Given the description of an element on the screen output the (x, y) to click on. 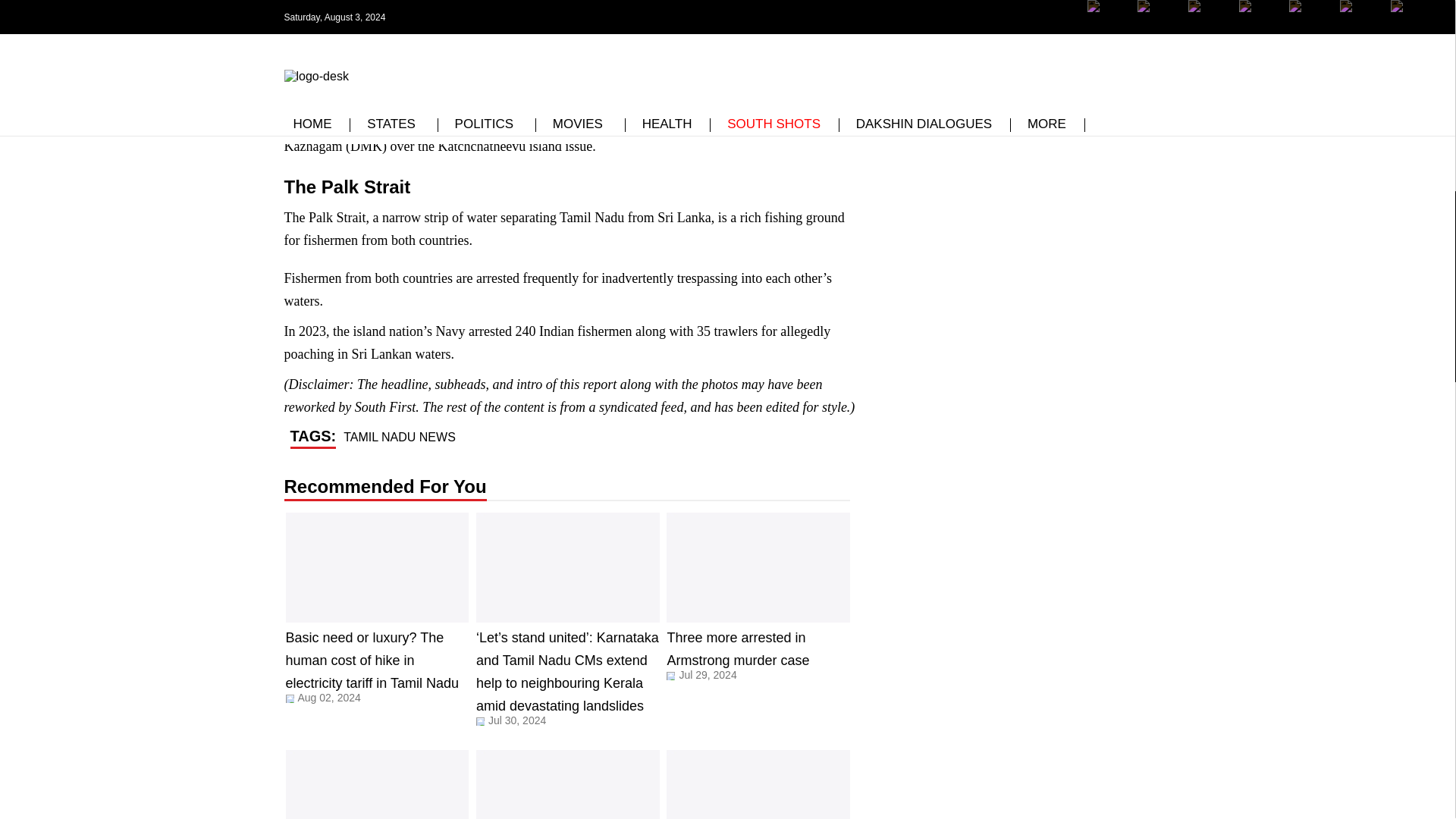
TAMIL NADU NEWS (577, 446)
